Given the description of an element on the screen output the (x, y) to click on. 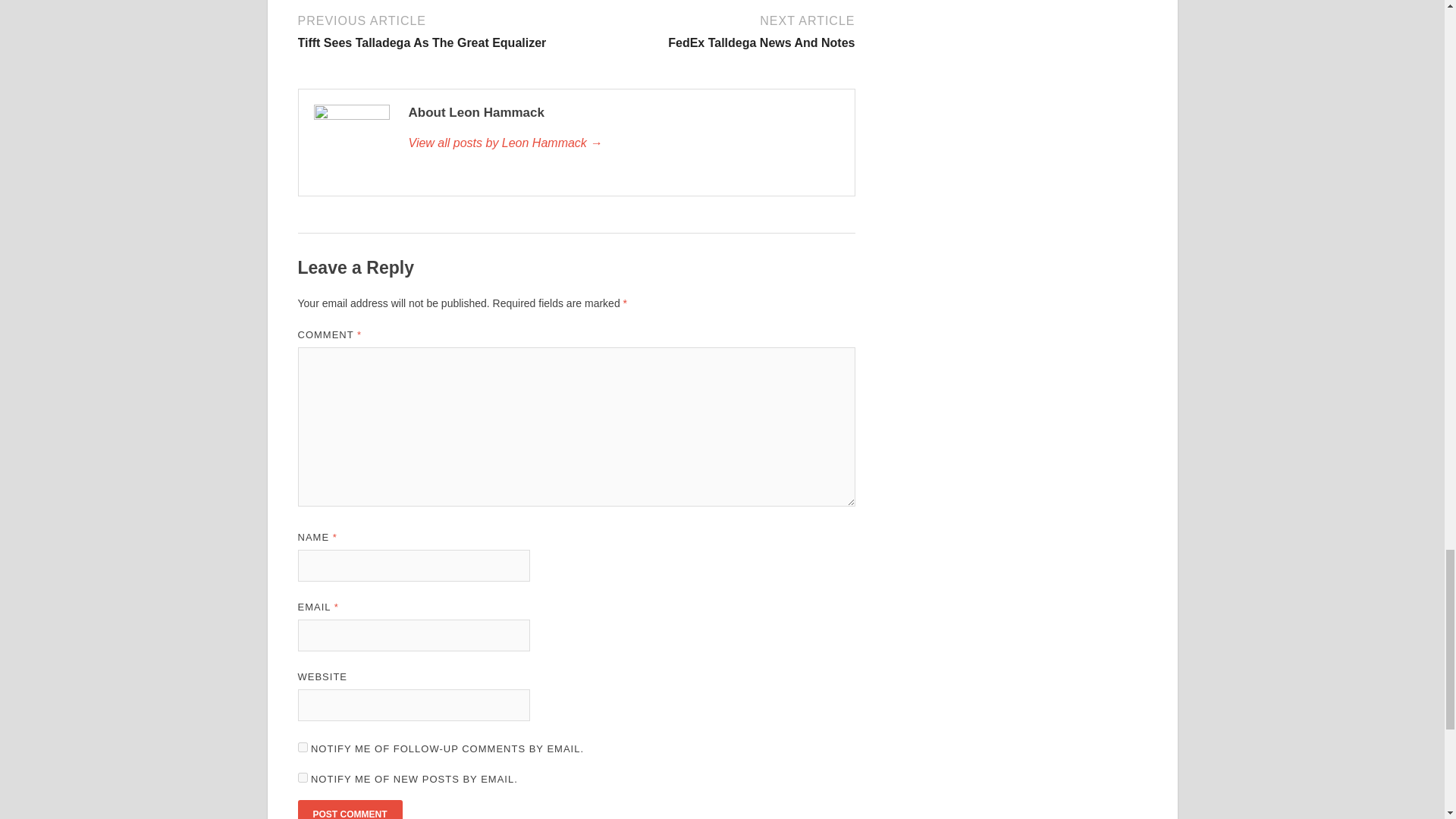
Leon Hammack (717, 30)
Post Comment (622, 143)
Post Comment (349, 809)
subscribe (349, 809)
subscribe (434, 30)
